Given the description of an element on the screen output the (x, y) to click on. 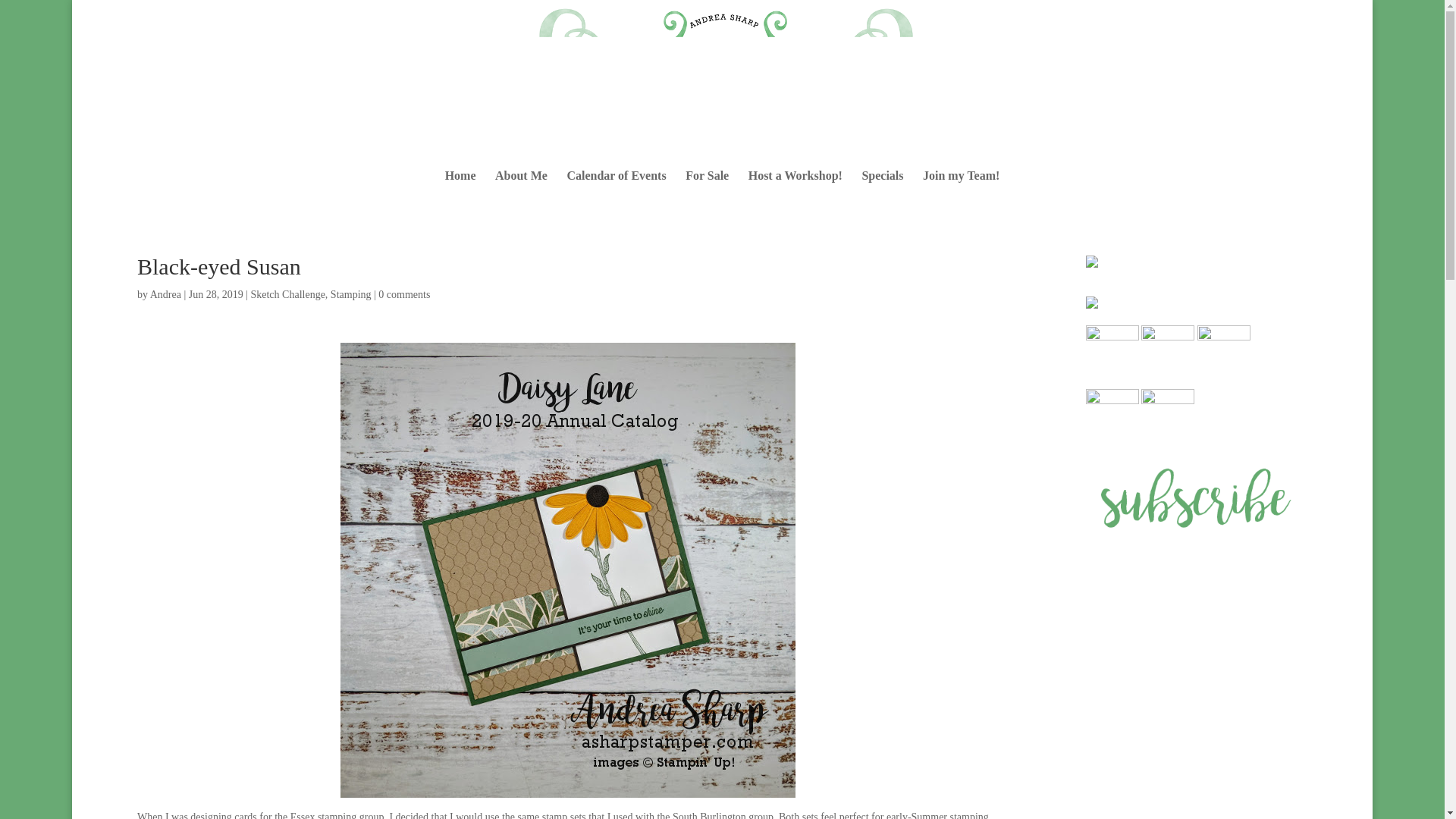
Specials (881, 190)
0 comments (403, 294)
Andrea (164, 294)
Join my Team! (960, 190)
Posts by Andrea (164, 294)
Sketch Challenge (287, 294)
Host a Workshop! (795, 190)
About Me (521, 190)
Calendar of Events (615, 190)
Stamping (350, 294)
For Sale (707, 190)
